Given the description of an element on the screen output the (x, y) to click on. 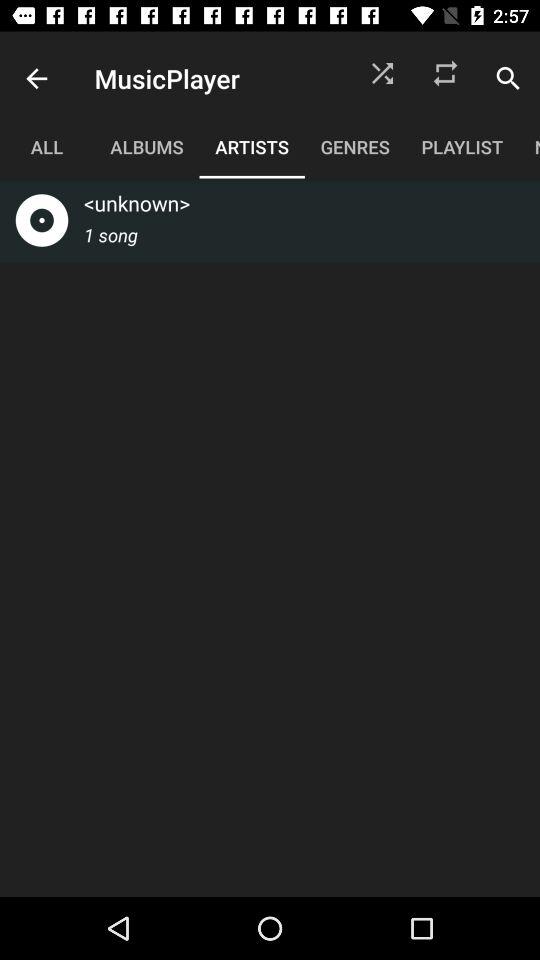
turn off icon above the playlist (508, 78)
